Given the description of an element on the screen output the (x, y) to click on. 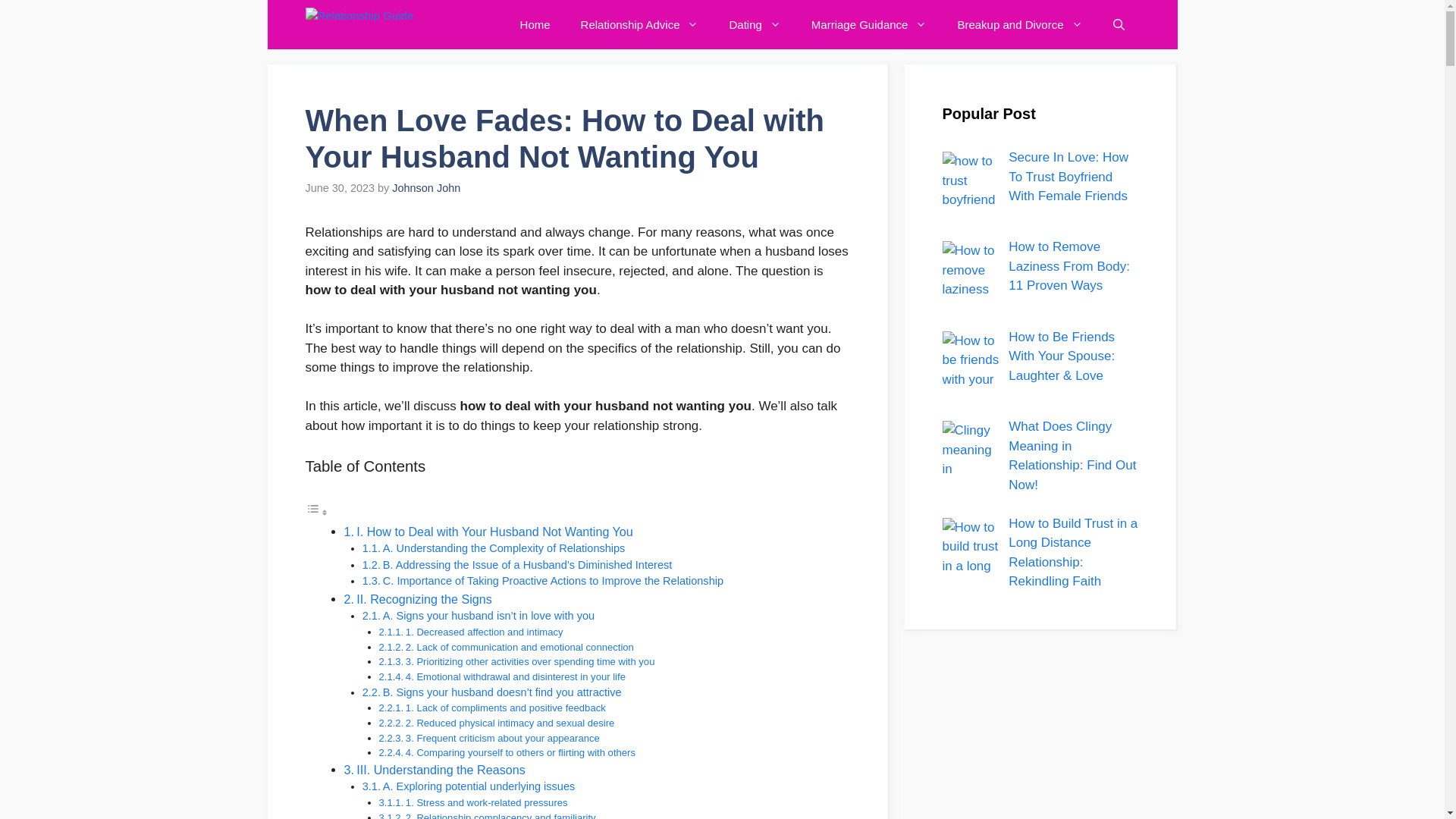
A. Understanding the Complexity of Relationships (504, 548)
II. Recognizing the Signs (424, 599)
4. Emotional withdrawal and disinterest in your life (516, 676)
3. Prioritizing other activities over spending time with you (530, 661)
1. Lack of compliments and positive feedback (505, 707)
4. Comparing yourself to others or flirting with others (520, 752)
2. Reduced physical intimacy and sexual desire (510, 722)
2. Lack of communication and emotional connection (519, 646)
I. How to Deal with Your Husband Not Wanting You (494, 531)
1. Decreased affection and intimacy (484, 632)
View all posts by Johnson John (425, 187)
1. Lack of compliments and positive feedback (505, 707)
Johnson John (425, 187)
